Given the description of an element on the screen output the (x, y) to click on. 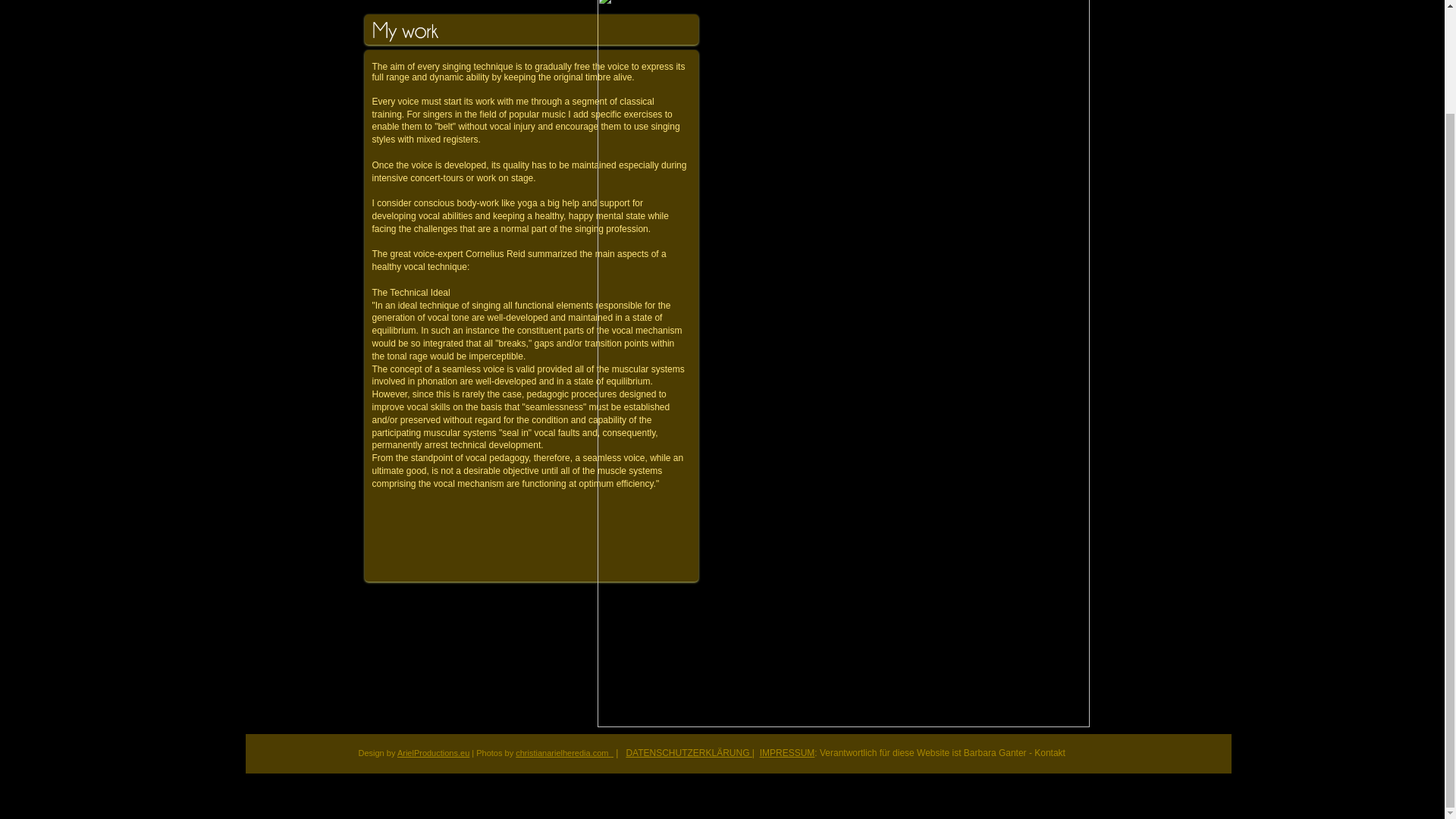
christianarielheredia.com   (563, 752)
Kontakt (1049, 752)
ArielProductions.eu (432, 752)
IMPRESSUM (787, 752)
